Given the description of an element on the screen output the (x, y) to click on. 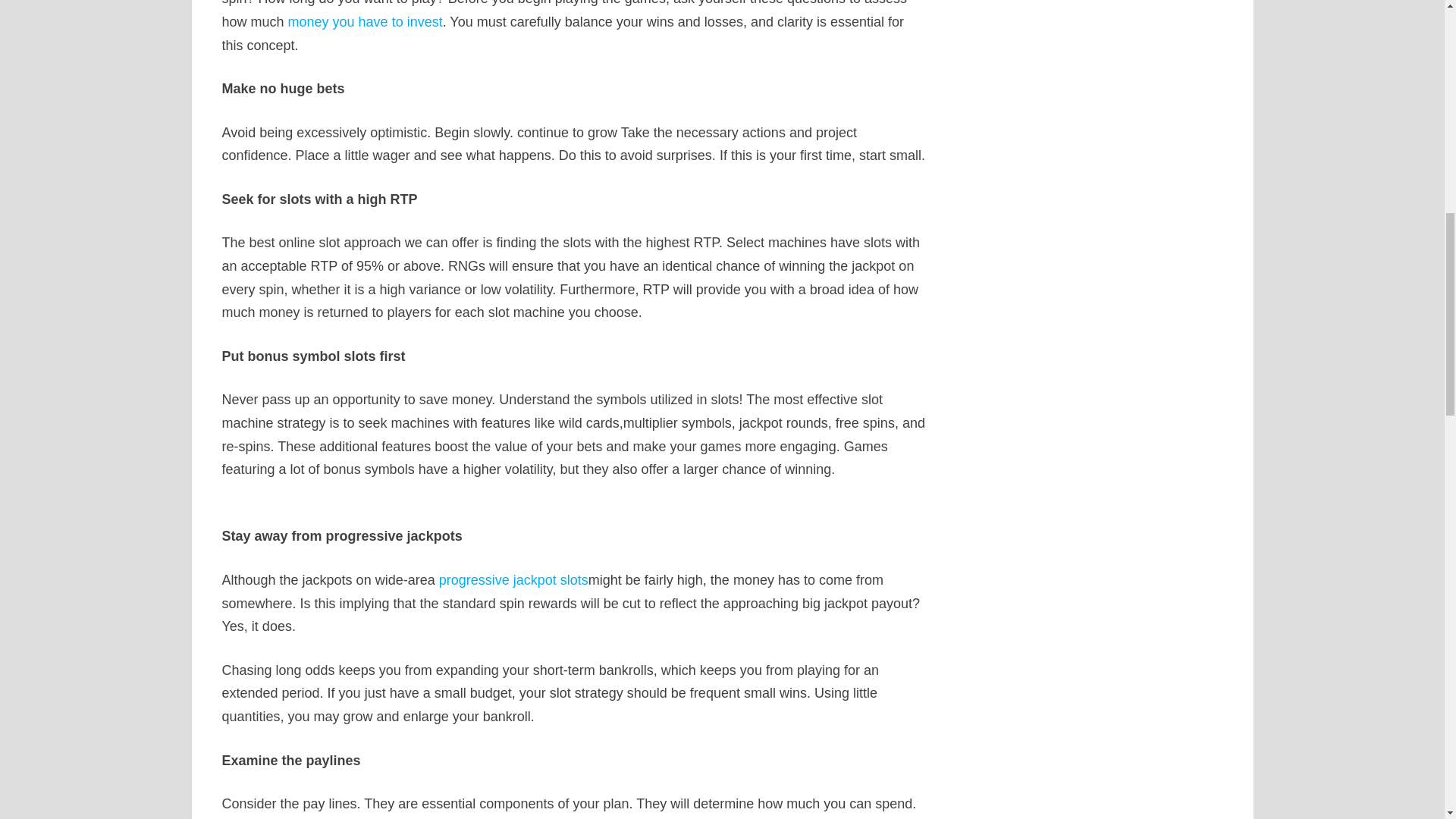
money you have to invest (365, 21)
